Given the description of an element on the screen output the (x, y) to click on. 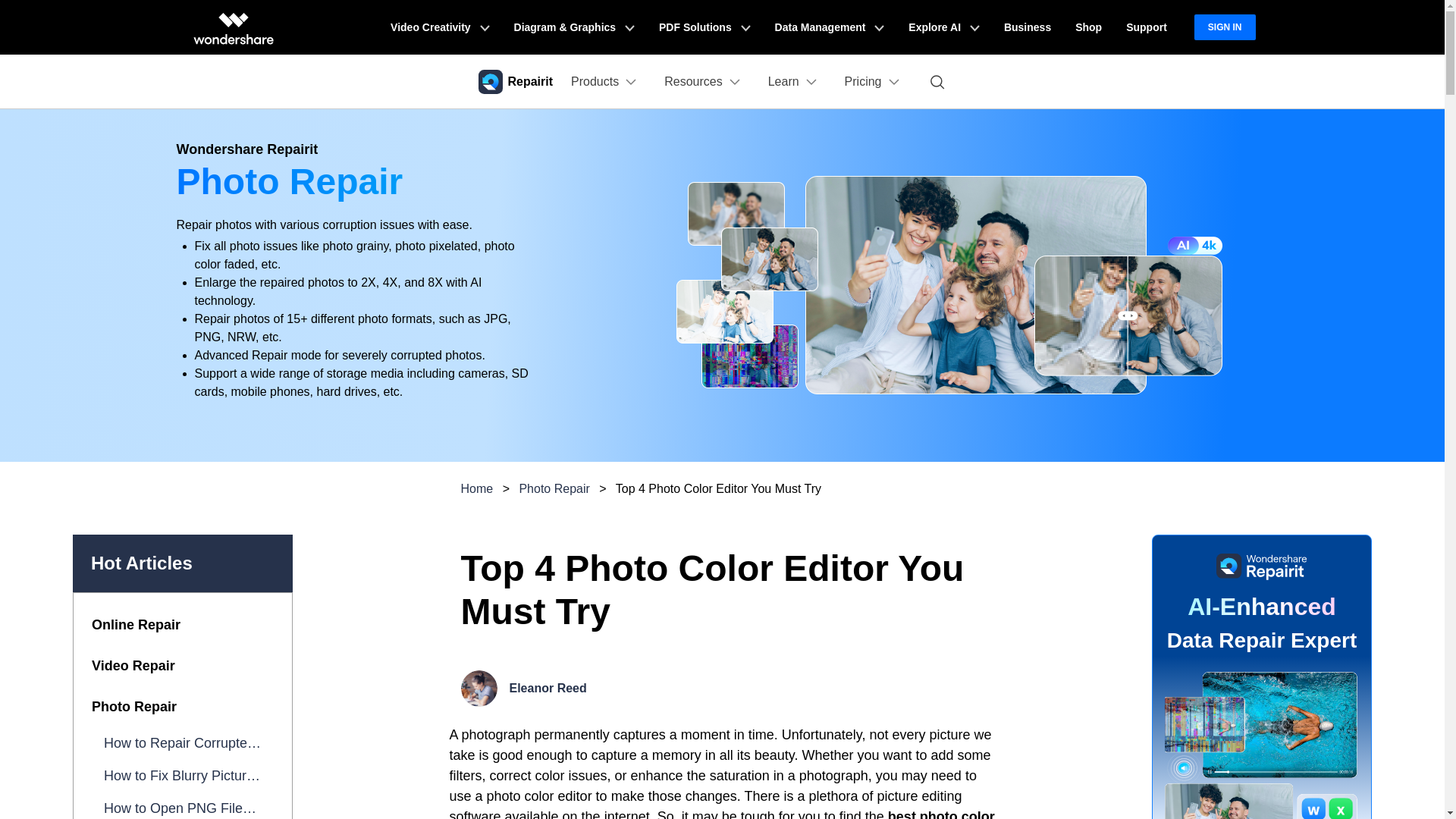
Data Management (829, 27)
Business (1026, 27)
Video Creativity (439, 27)
Explore AI (943, 27)
PDF Solutions (704, 27)
